Given the description of an element on the screen output the (x, y) to click on. 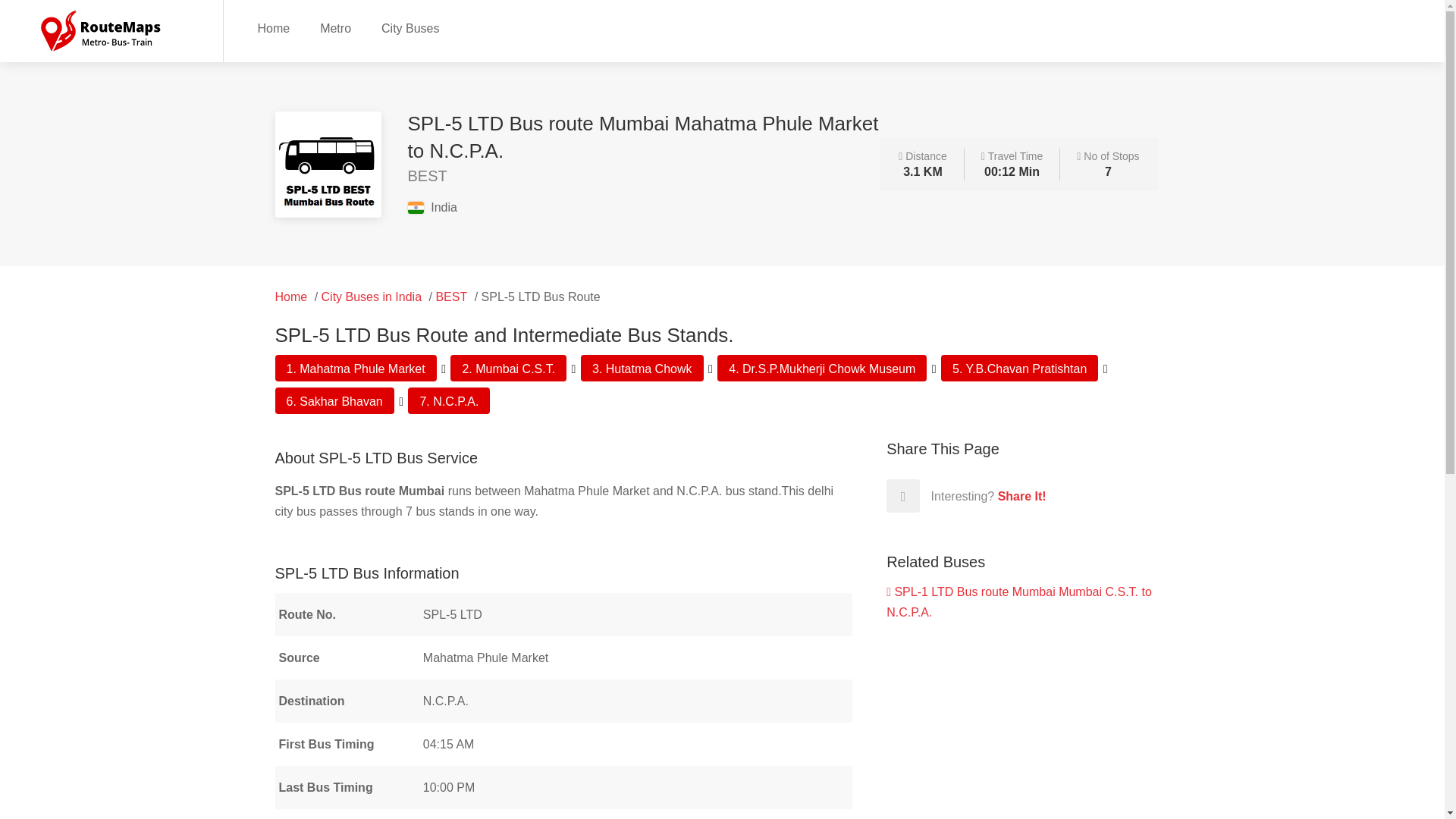
Home (291, 296)
Home (273, 28)
BEST (451, 296)
SPL-1 LTD Bus route Mumbai Mumbai C.S.T. to N.C.P.A. (1018, 602)
City Buses (409, 28)
City Buses in India (371, 296)
Metro (335, 28)
